Given the description of an element on the screen output the (x, y) to click on. 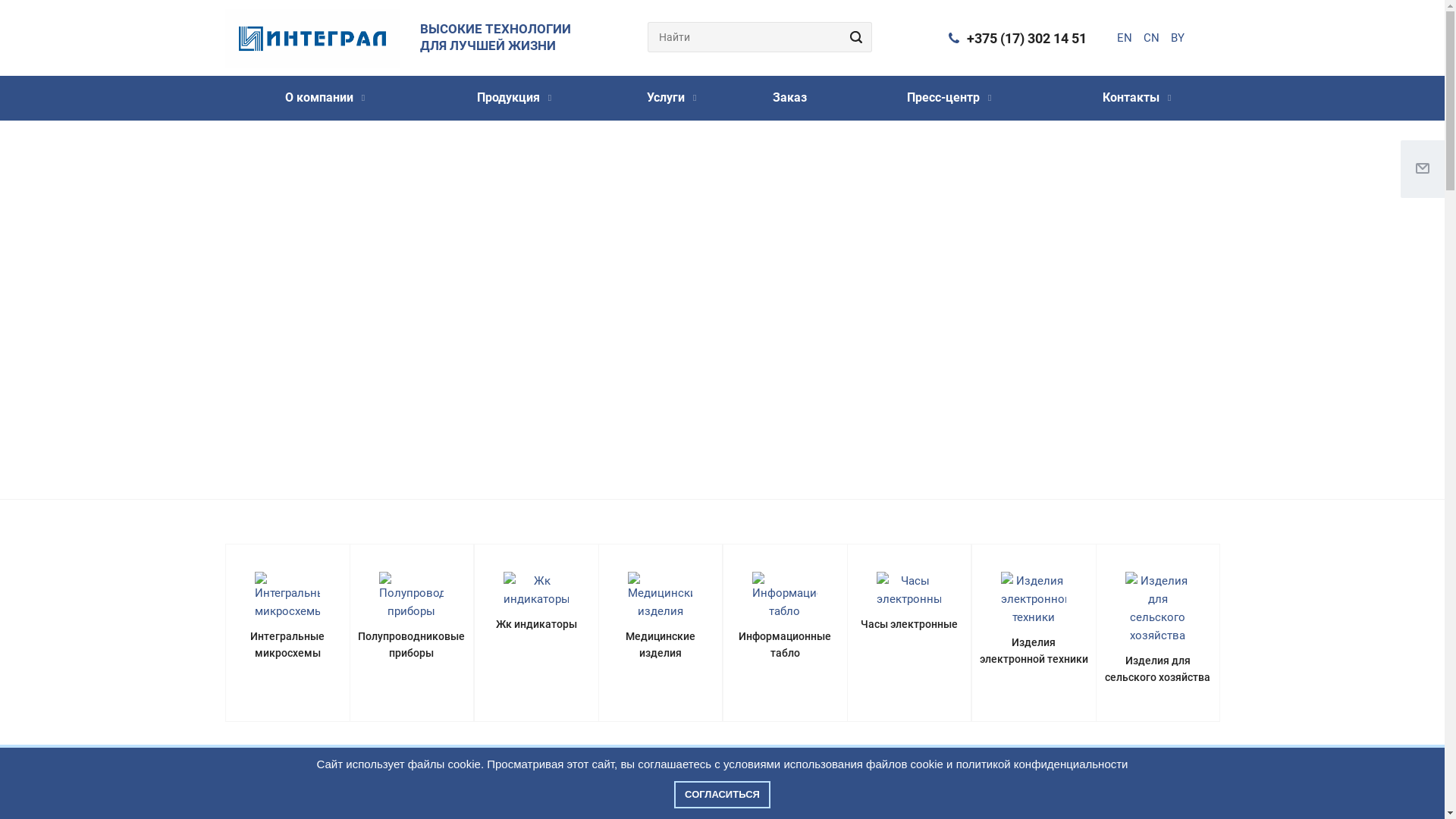
2 Element type: text (707, 472)
integral.by Element type: hover (311, 38)
+375 (17) 302 14 51 Element type: text (1025, 38)
BY Element type: text (1177, 37)
5 Element type: text (752, 472)
CN Element type: text (1151, 37)
EN Element type: text (1123, 37)
3 Element type: text (722, 472)
1 Element type: text (692, 472)
4 Element type: text (737, 472)
